Given the description of an element on the screen output the (x, y) to click on. 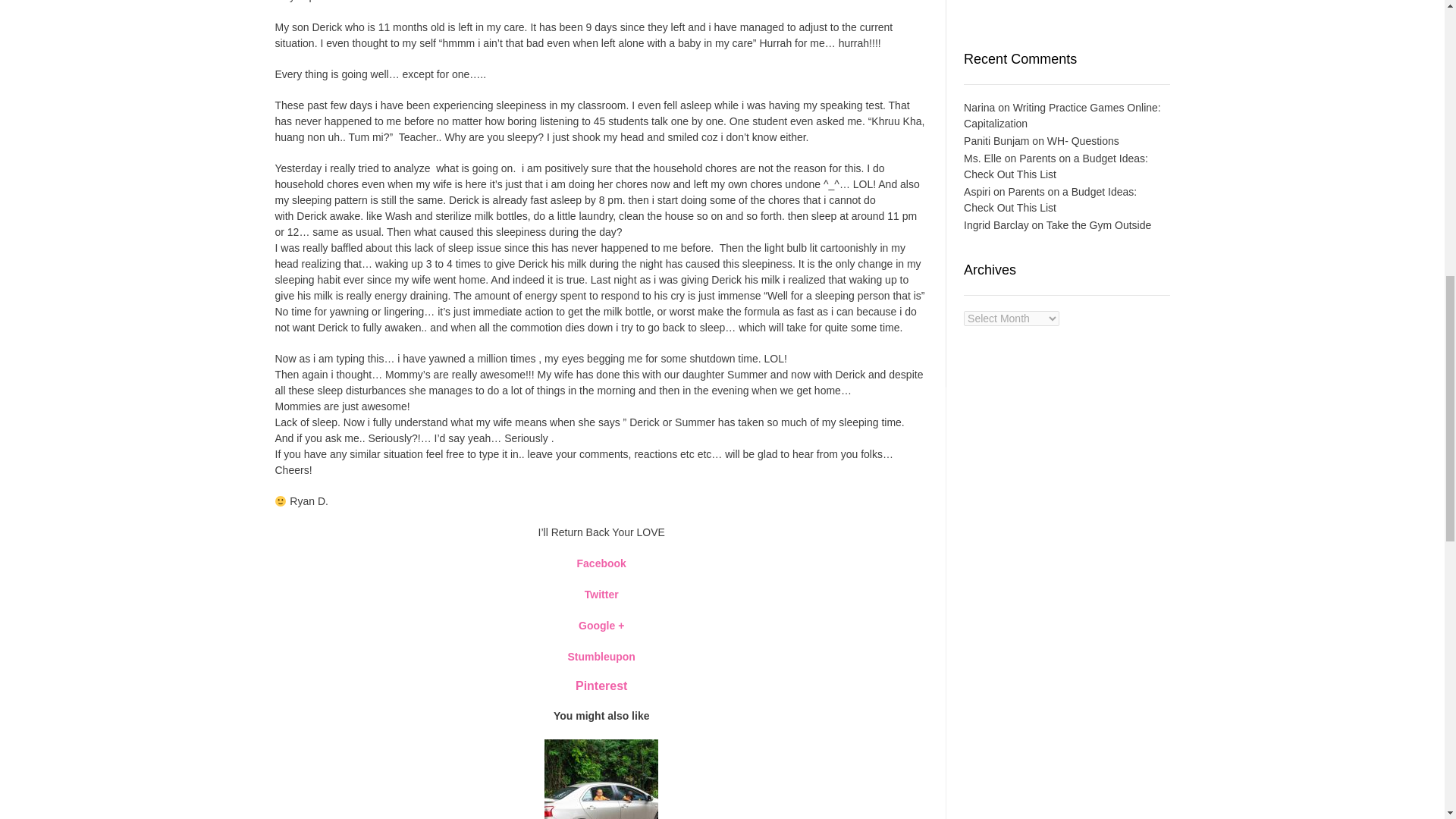
Stumbleupon (600, 656)
Twitter (601, 594)
WH- Questions (1082, 141)
Ms. Elle (982, 158)
Writing Practice Games Online: Capitalization (1061, 115)
Paniti Bunjam (996, 141)
Facebook (601, 563)
Pinterest (601, 685)
